Given the description of an element on the screen output the (x, y) to click on. 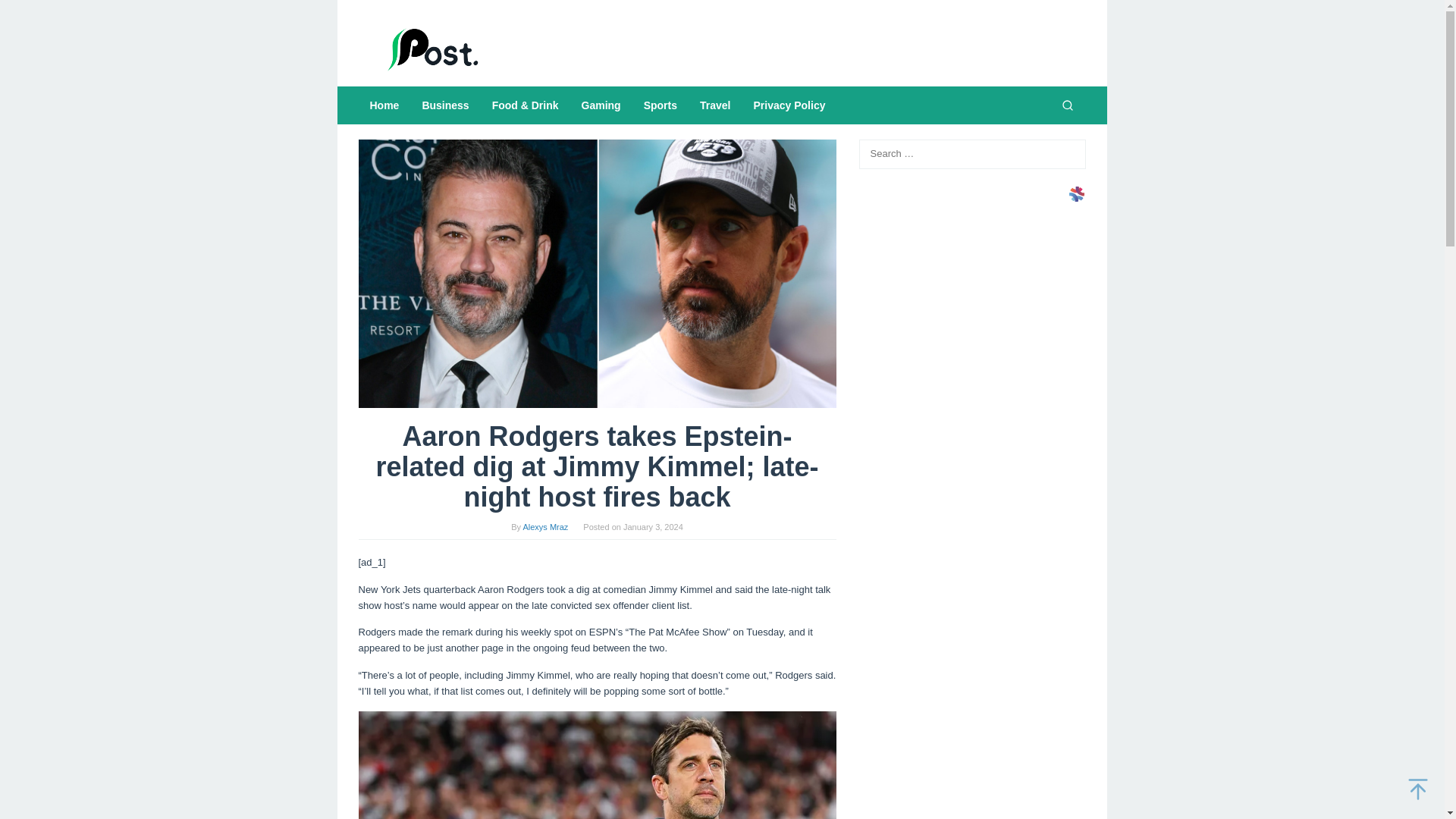
SNAPOST (433, 48)
Gaming (600, 105)
Home (384, 105)
Permalink to: Alexys Mraz (544, 526)
Sports (659, 105)
Travel (714, 105)
Search (26, 14)
Business (445, 105)
Alexys Mraz (544, 526)
Home (384, 105)
Privacy Policy (788, 105)
SNAPOST (433, 48)
Search (1067, 105)
